Given the description of an element on the screen output the (x, y) to click on. 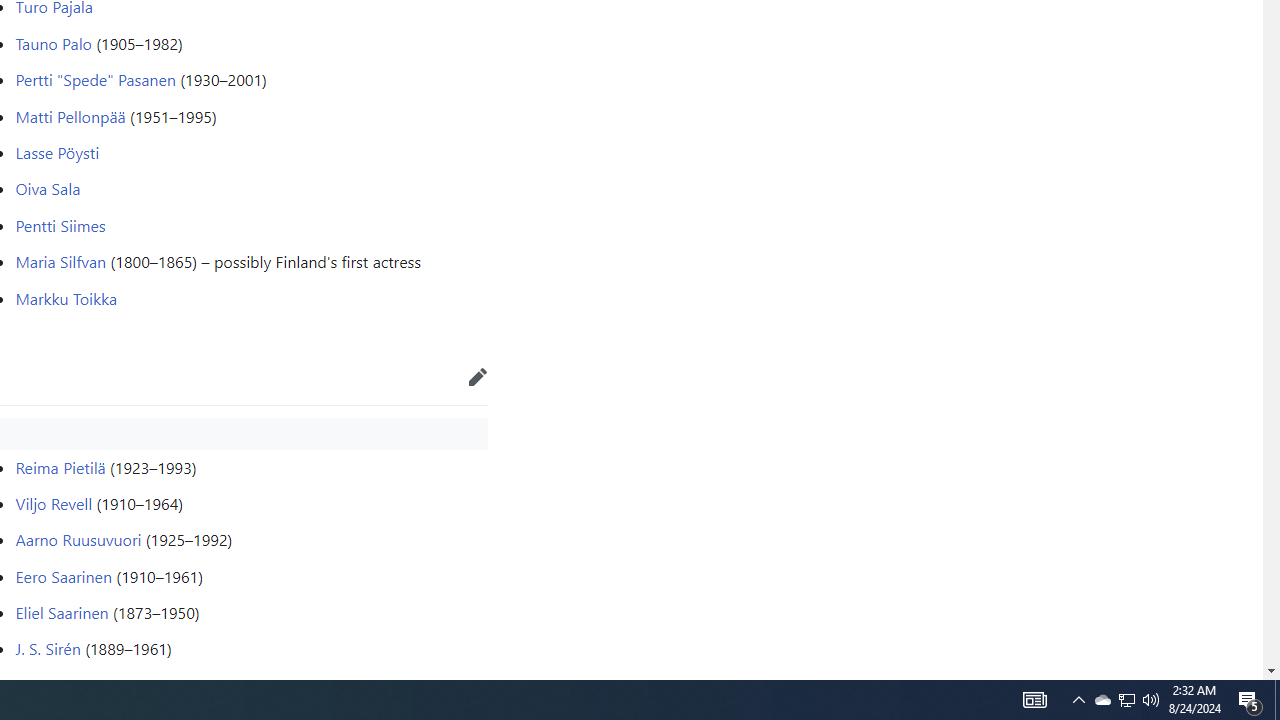
Eliel Saarinen (61, 612)
